Given the description of an element on the screen output the (x, y) to click on. 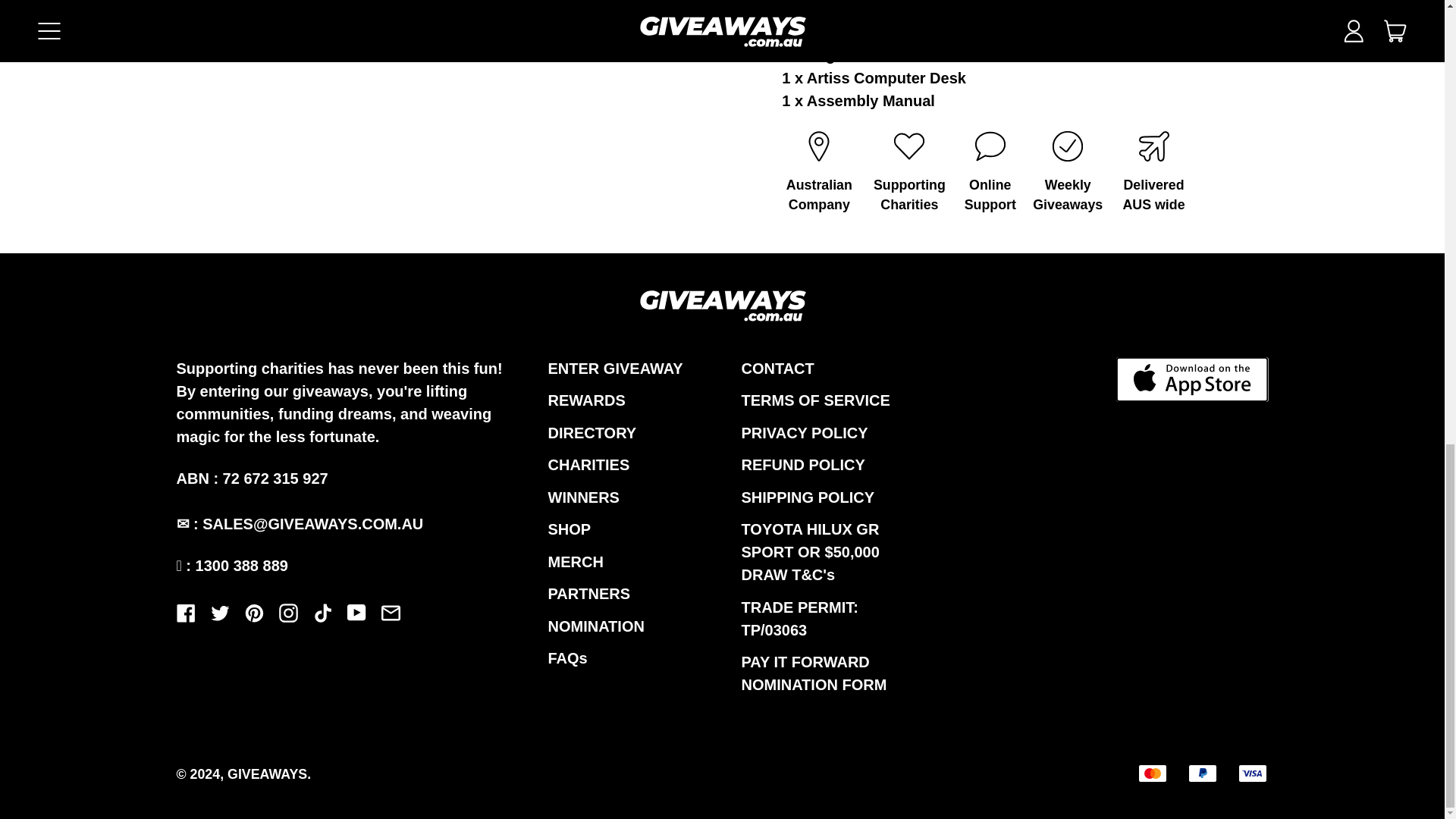
SHOP (569, 528)
Email (389, 617)
PARTNERS (588, 593)
TikTok (322, 617)
MERCH (574, 561)
DIRECTORY (591, 433)
Pinterest (253, 617)
REWARDS (585, 400)
Instagram (288, 617)
CHARITIES (587, 464)
